Given the description of an element on the screen output the (x, y) to click on. 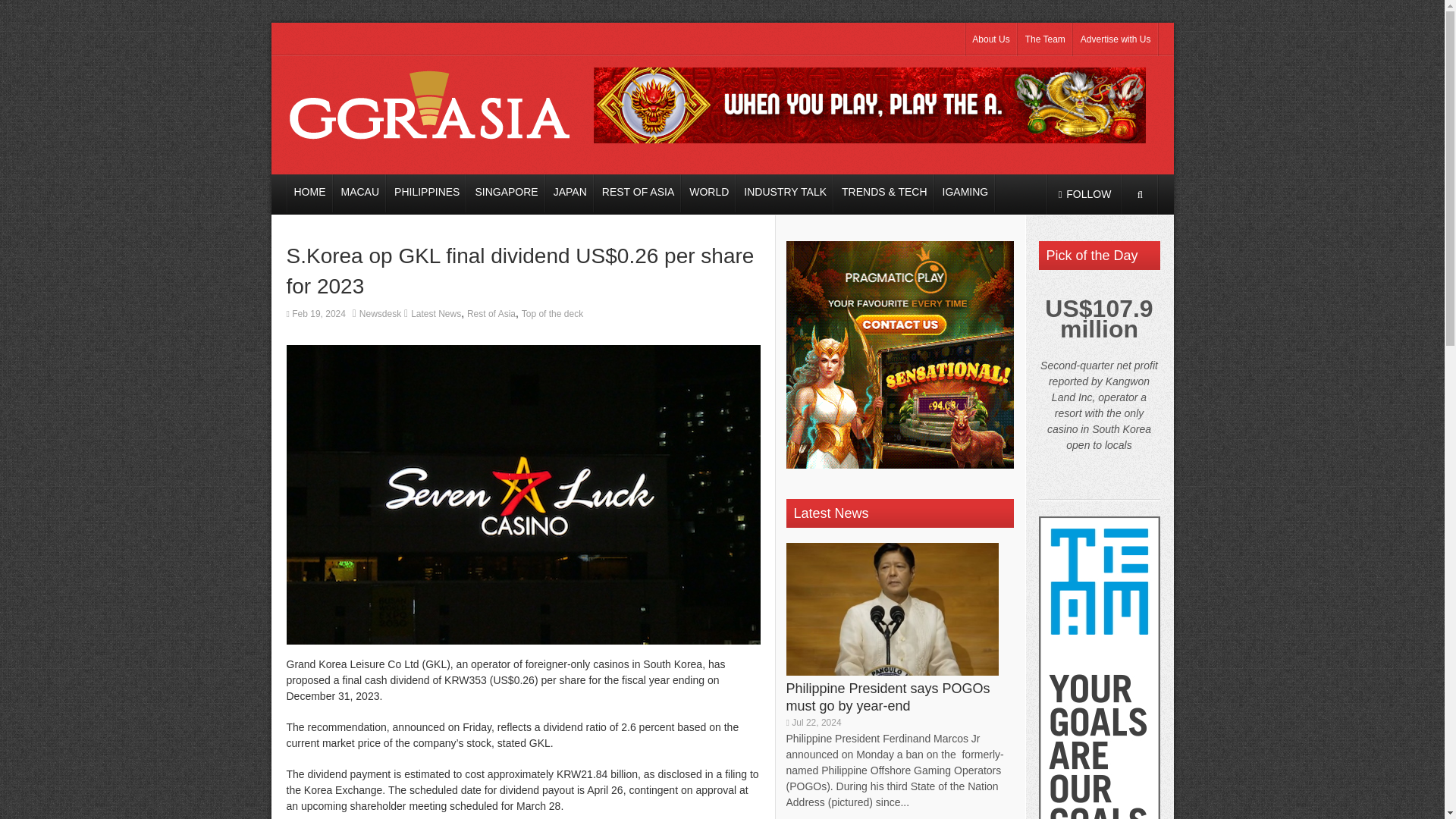
HOME (309, 193)
INDUSTRY TALK (785, 193)
REST OF ASIA (637, 193)
SINGAPORE (505, 193)
Latest News (435, 313)
Philippine President says POGOs must go by year-end (888, 696)
Latest News (830, 513)
View all posts in Latest News (435, 313)
Advertise with Us (1115, 39)
Philippine President says POGOs must go by year-end (888, 696)
Newsdesk (380, 313)
MACAU (360, 193)
FOLLOW (1084, 194)
View all posts in Rest of Asia (491, 313)
PHILIPPINES (427, 193)
